Given the description of an element on the screen output the (x, y) to click on. 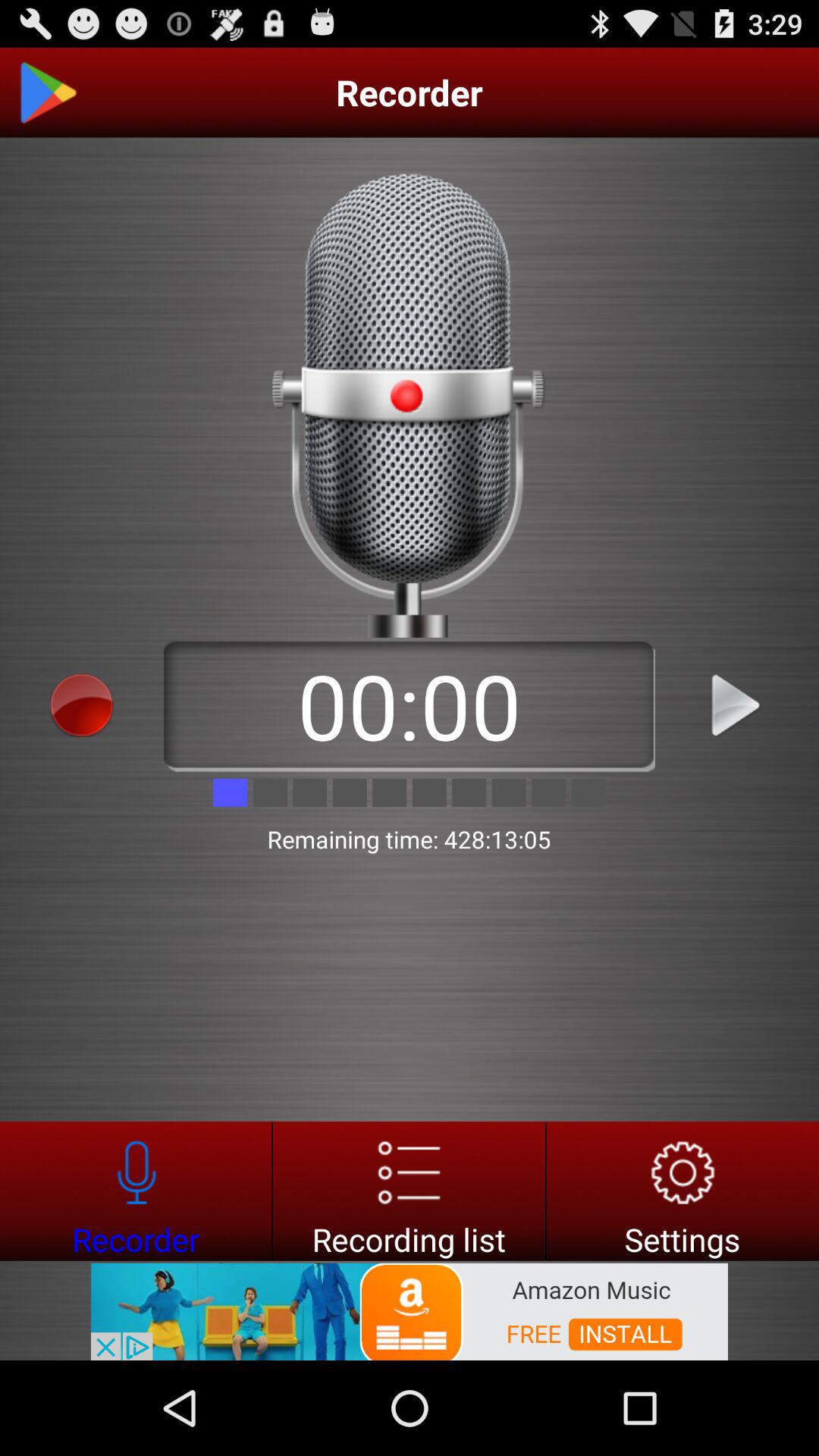
play the recording (737, 705)
